Given the description of an element on the screen output the (x, y) to click on. 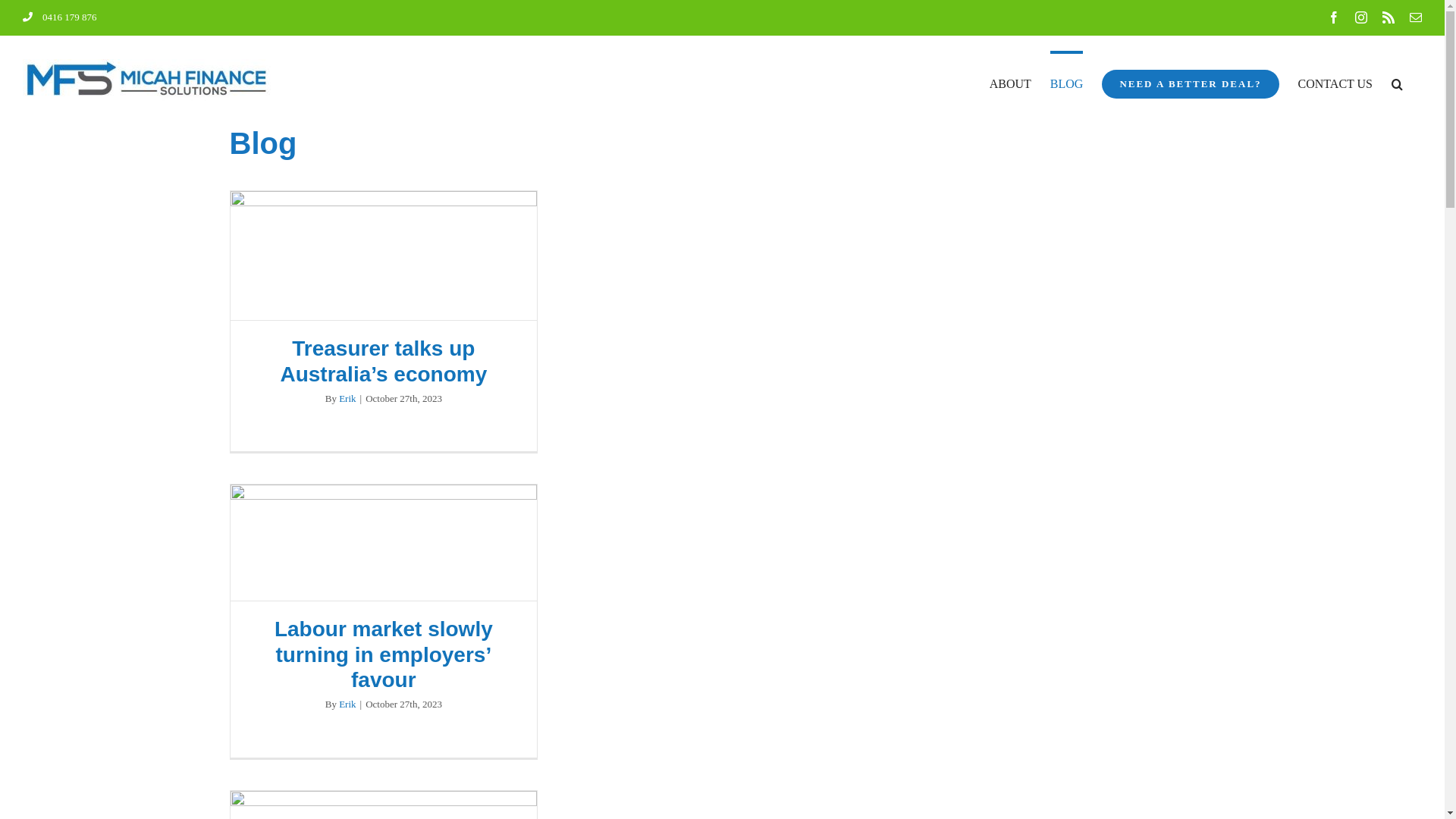
NEED A BETTER DEAL? Element type: text (1189, 82)
Search Element type: hover (1396, 82)
Rss Element type: text (1388, 17)
Erik Element type: text (346, 703)
BLOG Element type: text (1066, 82)
0416 179 876 Element type: text (59, 16)
CONTACT US Element type: text (1335, 82)
Email Element type: text (1415, 17)
Erik Element type: text (346, 398)
Facebook Element type: text (1333, 17)
ABOUT Element type: text (1010, 82)
Instagram Element type: text (1361, 17)
